Given the description of an element on the screen output the (x, y) to click on. 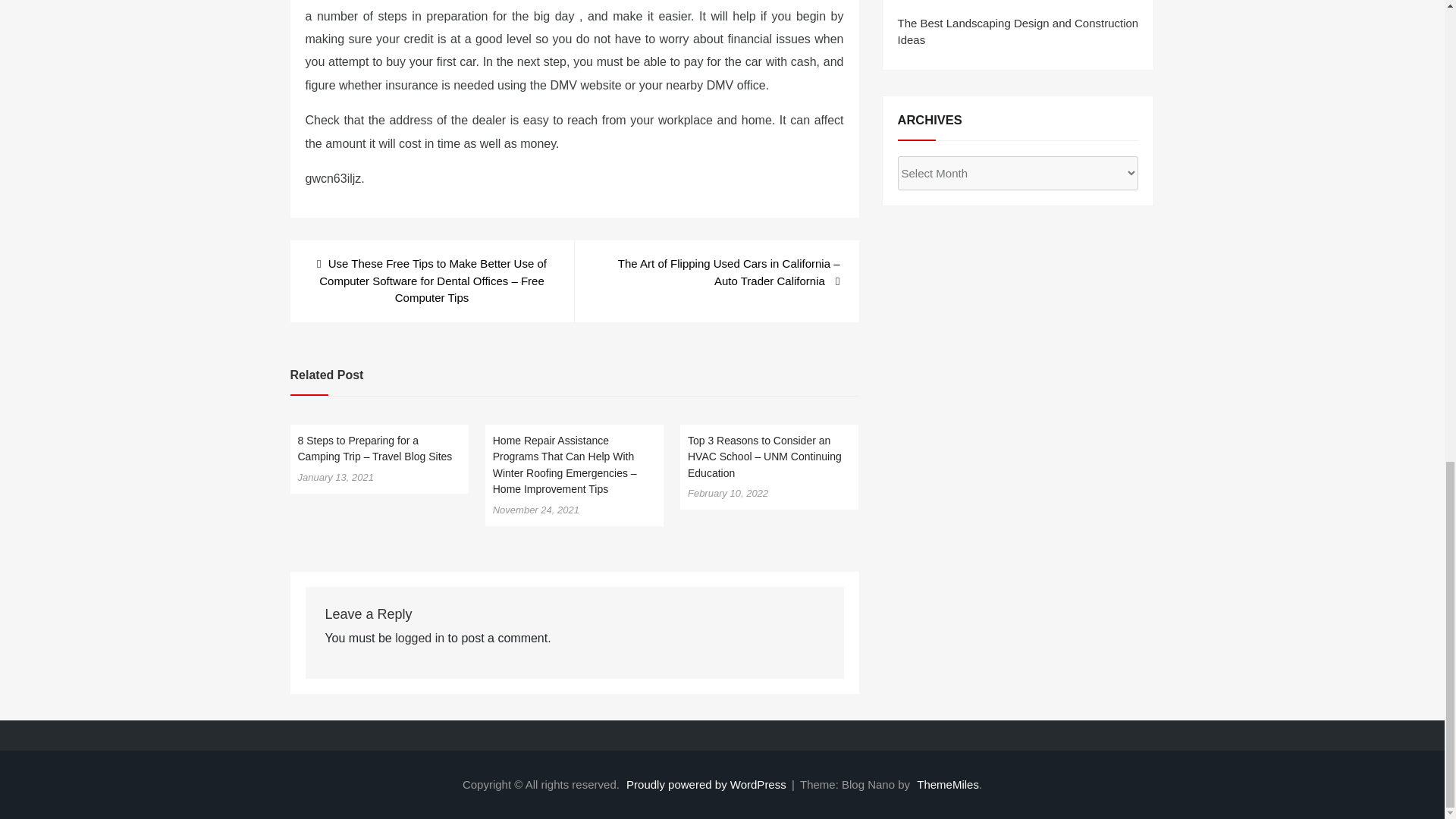
logged in (419, 637)
